Given the description of an element on the screen output the (x, y) to click on. 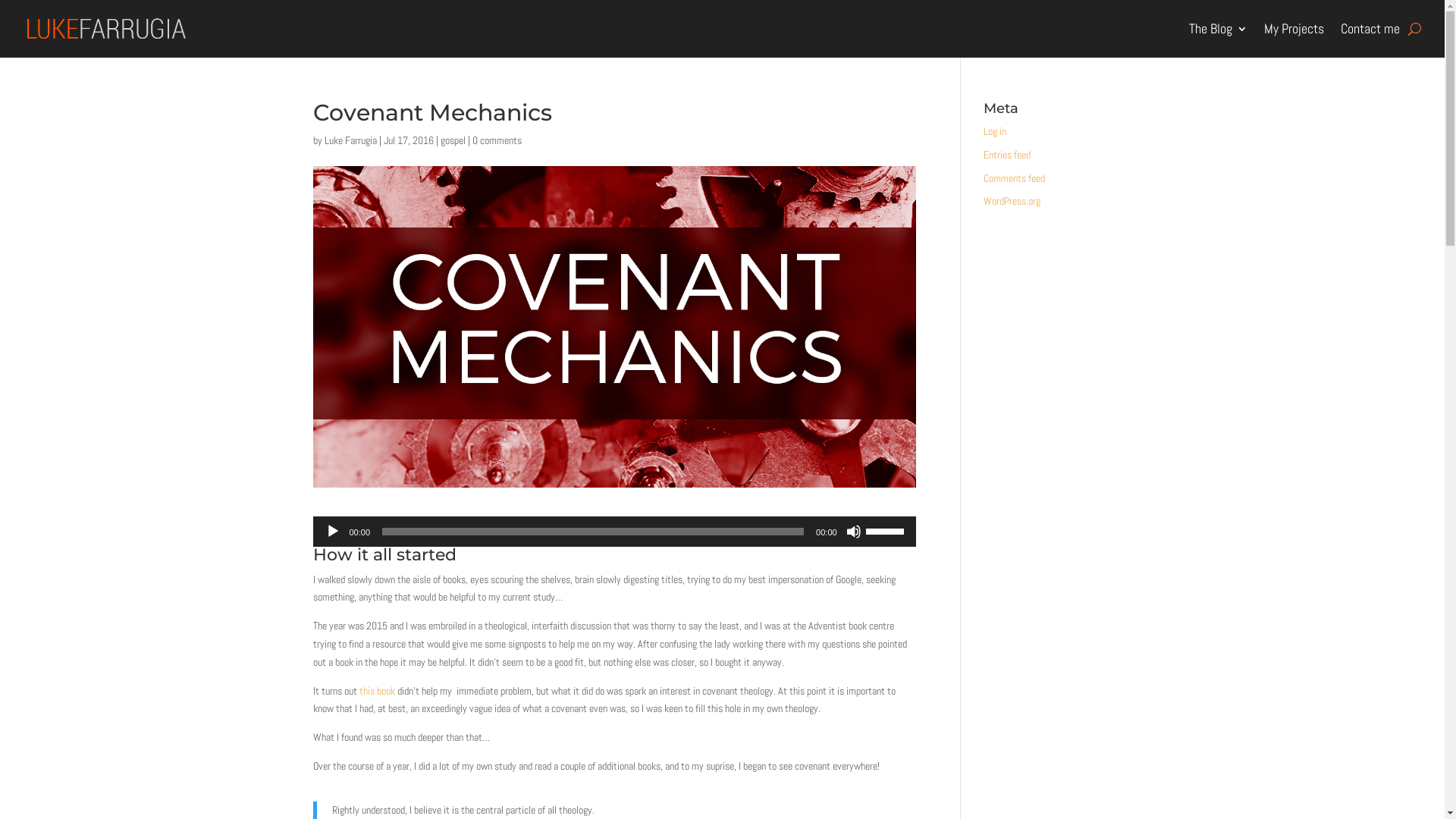
My Projects Element type: text (1294, 28)
The Blog Element type: text (1218, 28)
Contact me Element type: text (1369, 28)
Log in Element type: text (994, 131)
Play Element type: hover (331, 531)
0 comments Element type: text (495, 140)
Comments feed Element type: text (1013, 178)
WordPress.org Element type: text (1011, 200)
Entries feed Element type: text (1006, 154)
Use Up/Down Arrow keys to increase or decrease volume. Element type: text (887, 529)
Luke Farrugia Element type: text (350, 140)
this book Element type: text (377, 690)
gospel Element type: text (451, 140)
Mute Element type: hover (853, 531)
